Given the description of an element on the screen output the (x, y) to click on. 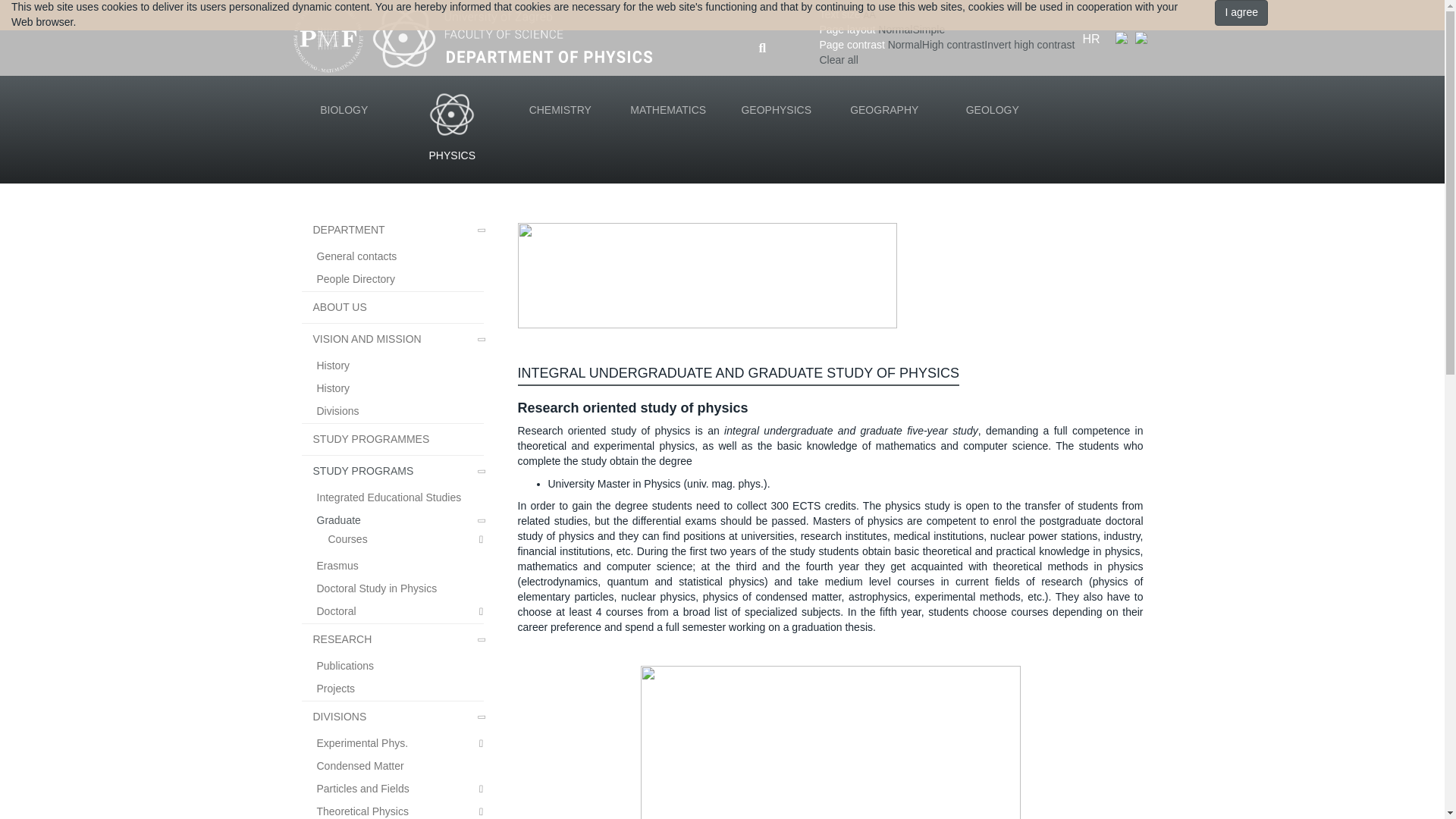
I agree (1241, 12)
Accessibility settings (946, 37)
